Given the description of an element on the screen output the (x, y) to click on. 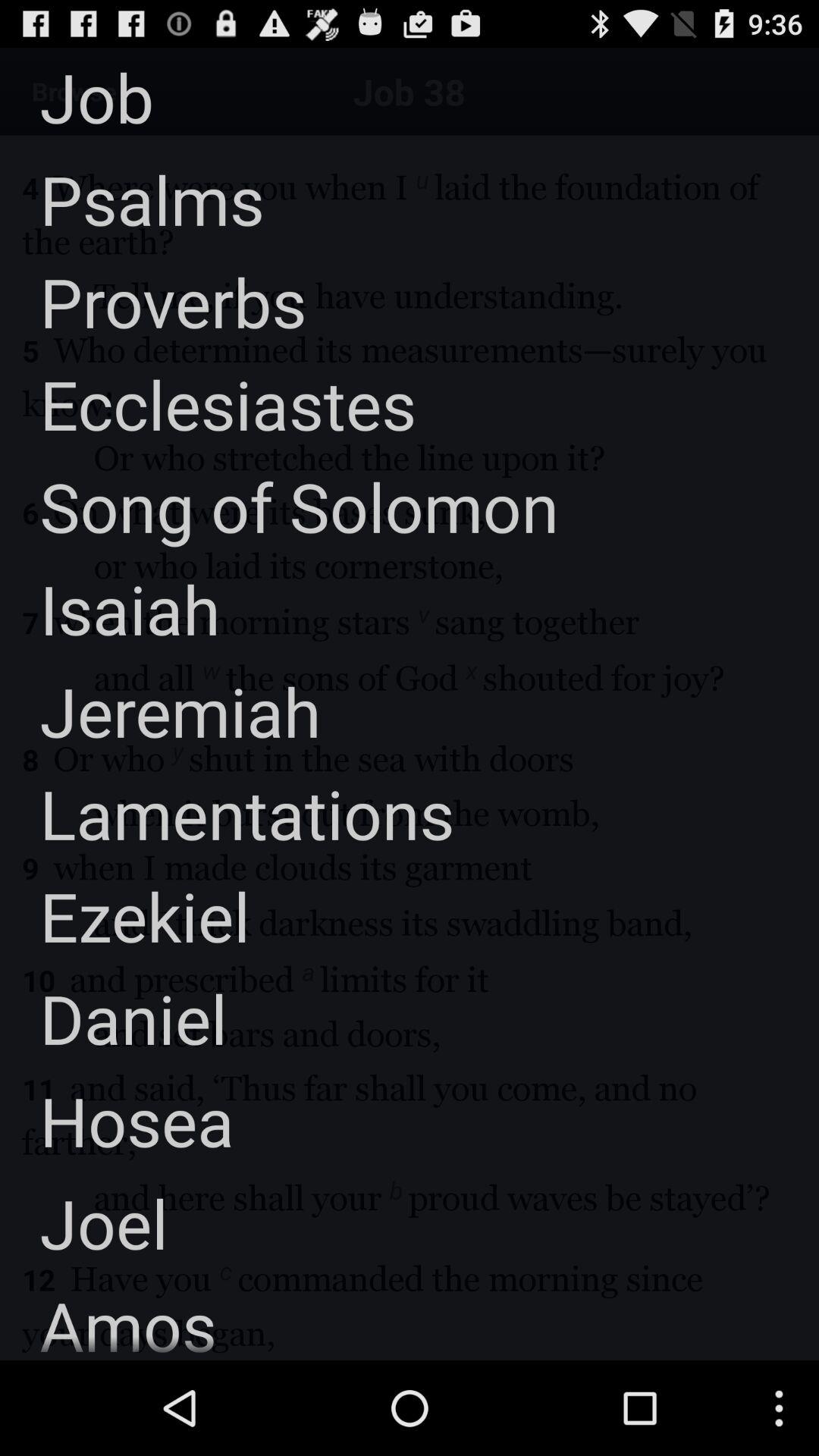
scroll until the ezekiel (125, 915)
